Given the description of an element on the screen output the (x, y) to click on. 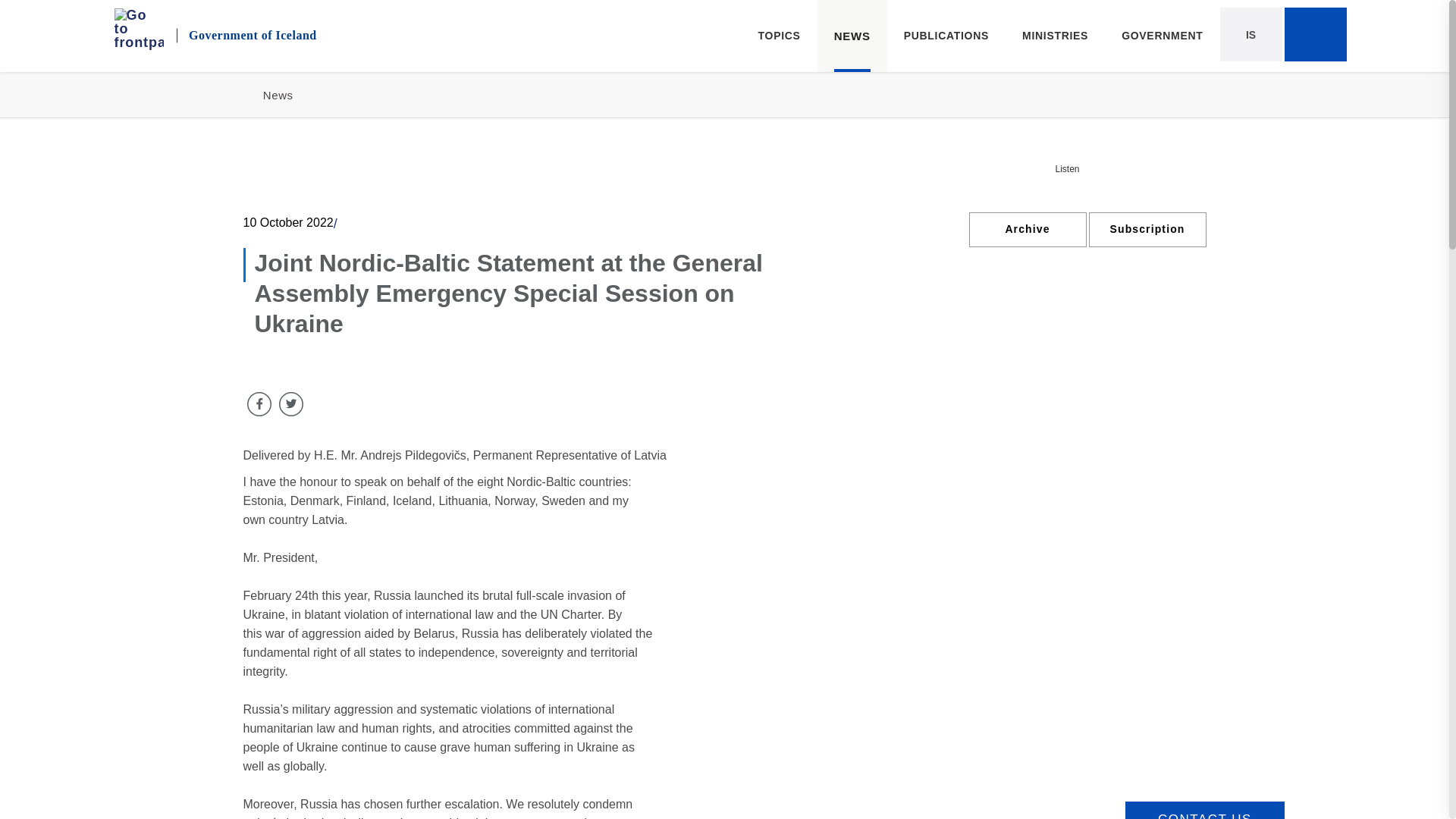
Government of Iceland (258, 32)
NEWS (851, 36)
Leit (234, 33)
Hoppa yfir valmynd (1315, 34)
Listen to this website read by ReadSpeaker (51, 10)
PUBLICATIONS (1075, 168)
TOPICS (946, 36)
